Given the description of an element on the screen output the (x, y) to click on. 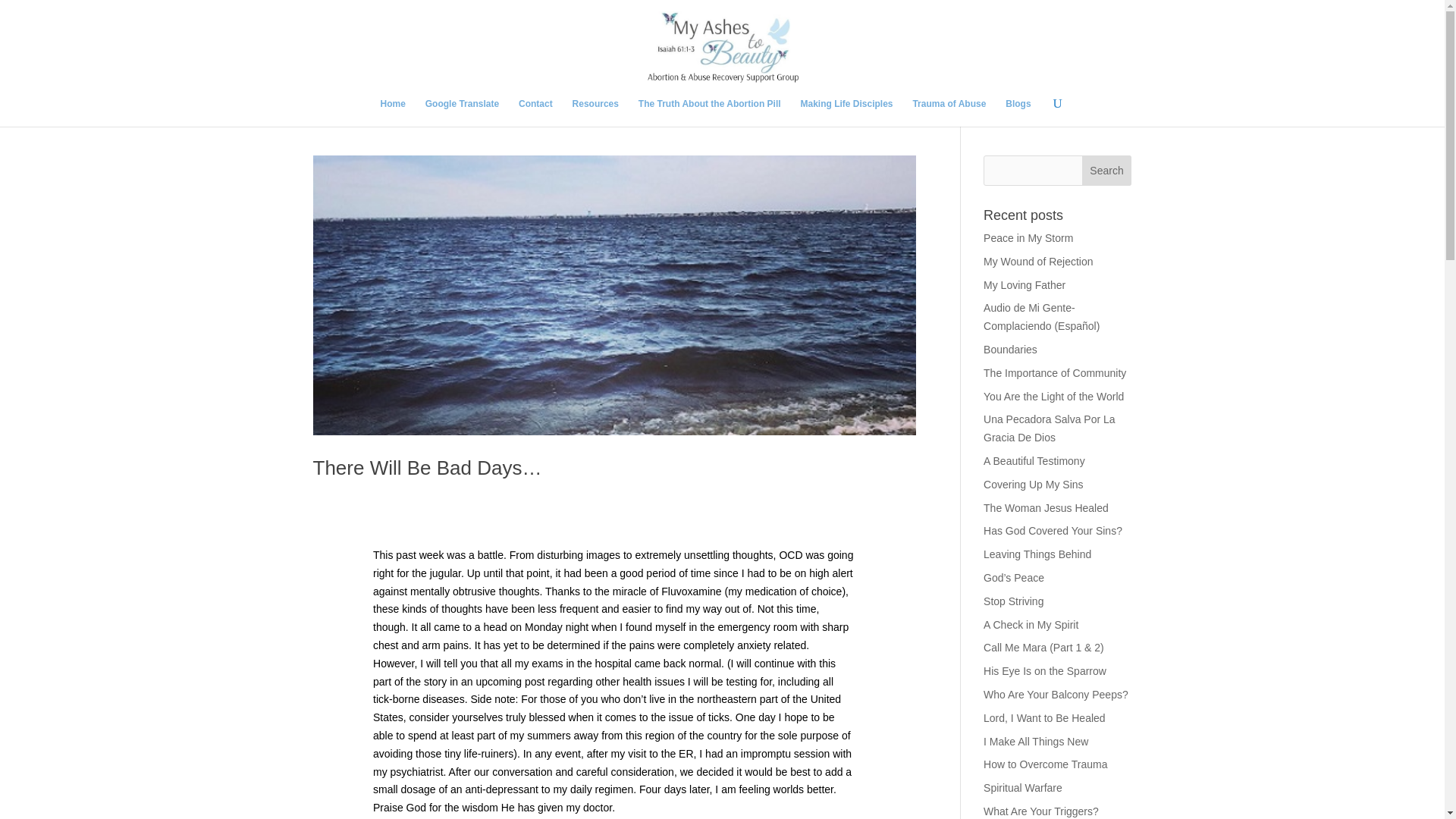
Spiritual Warfare (1023, 787)
Search (1106, 170)
Trauma of Abuse (948, 112)
The Truth About the Abortion Pill (709, 112)
Una Pecadora Salva Por La Gracia De Dios (1049, 428)
Google Translate (462, 112)
Lord, I Want to Be Healed (1044, 717)
Who Are Your Balcony Peeps? (1056, 694)
A Beautiful Testimony (1034, 460)
Covering Up My Sins (1033, 484)
Resources (595, 112)
Home (393, 112)
My Loving Father (1024, 285)
Leaving Things Behind (1037, 553)
His Eye Is on the Sparrow (1045, 671)
